Given the description of an element on the screen output the (x, y) to click on. 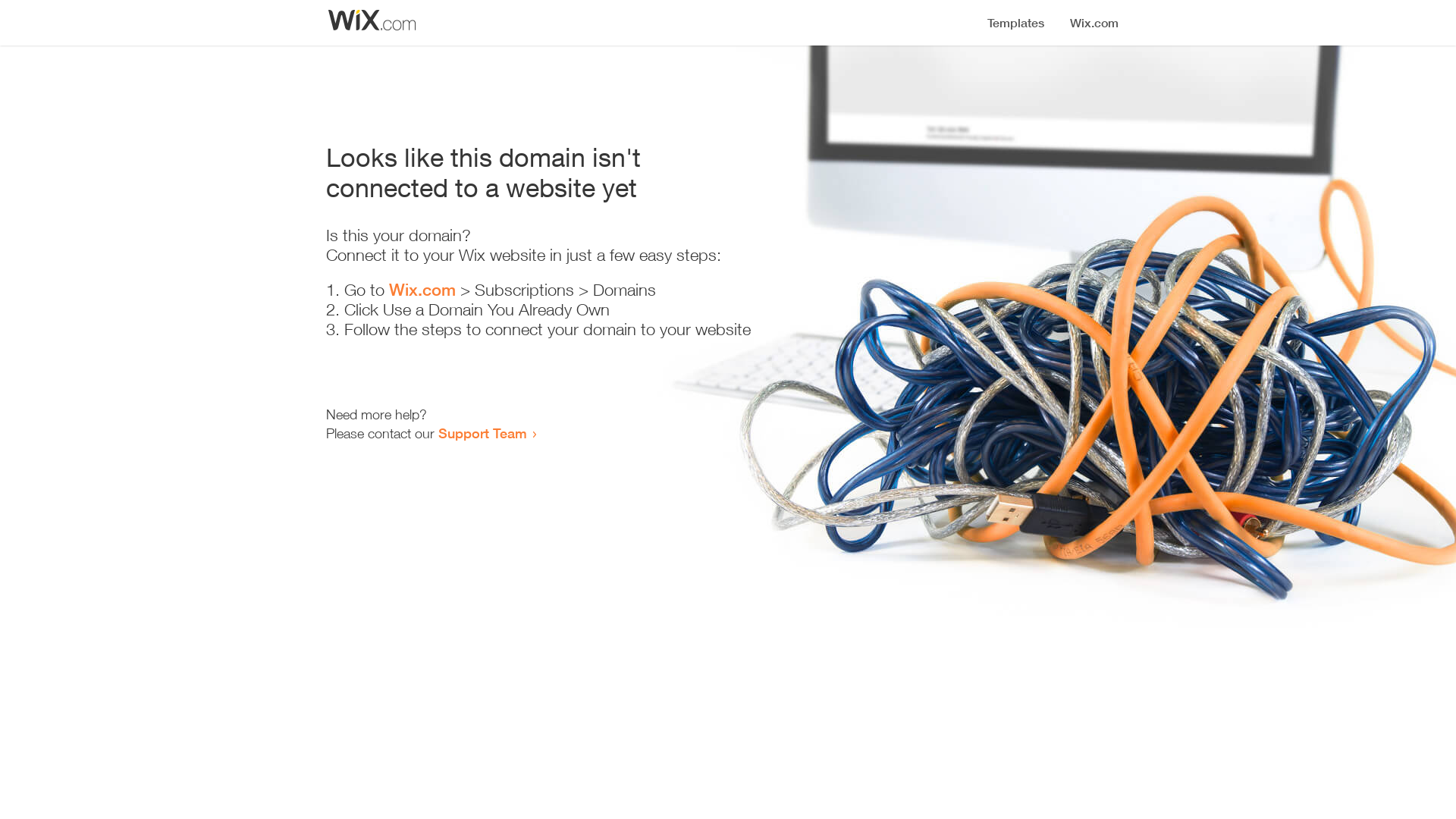
Support Team Element type: text (482, 432)
Wix.com Element type: text (422, 289)
